Given the description of an element on the screen output the (x, y) to click on. 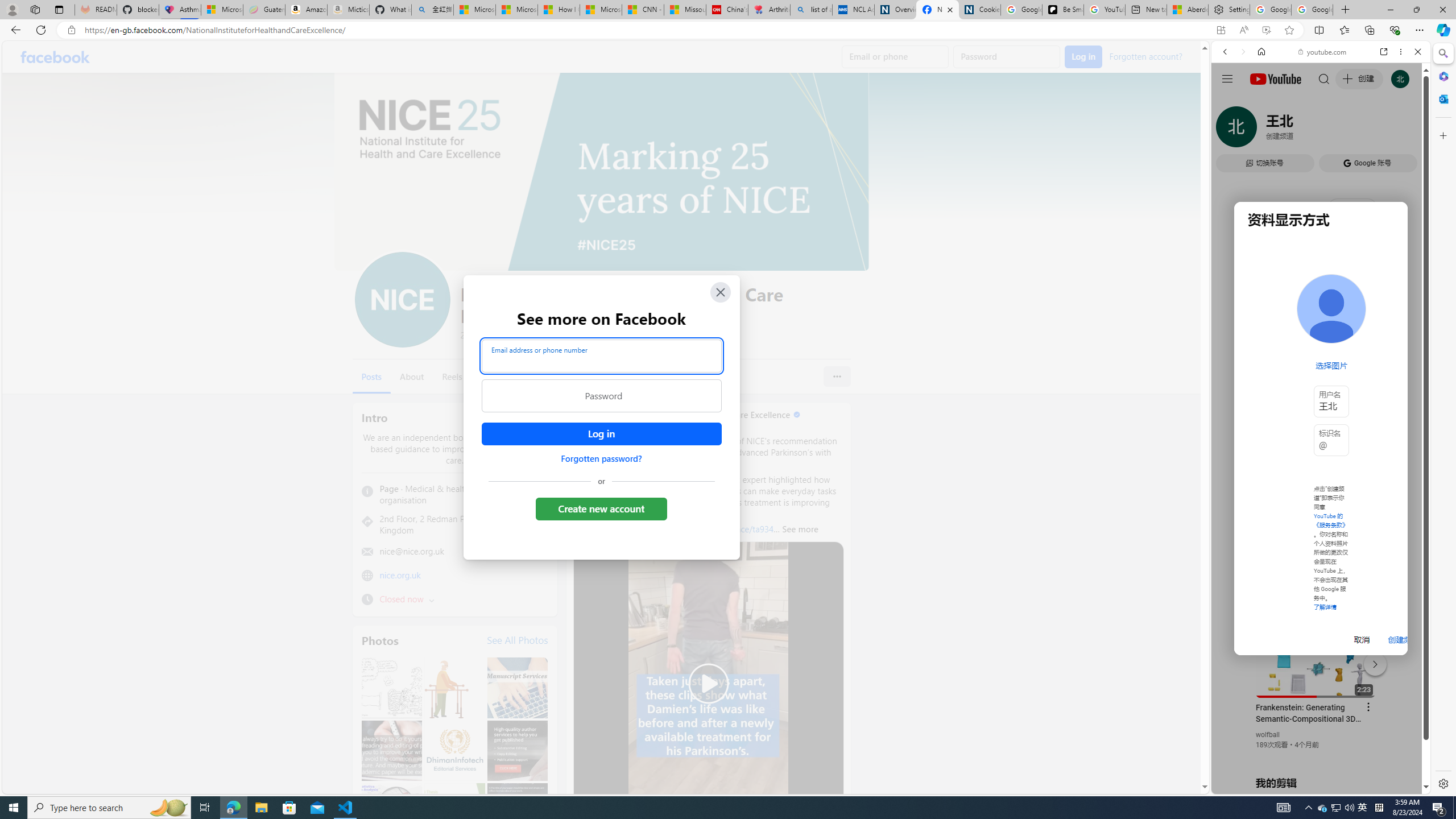
#you (1320, 253)
Search Filter, WEB (1230, 129)
